Given the description of an element on the screen output the (x, y) to click on. 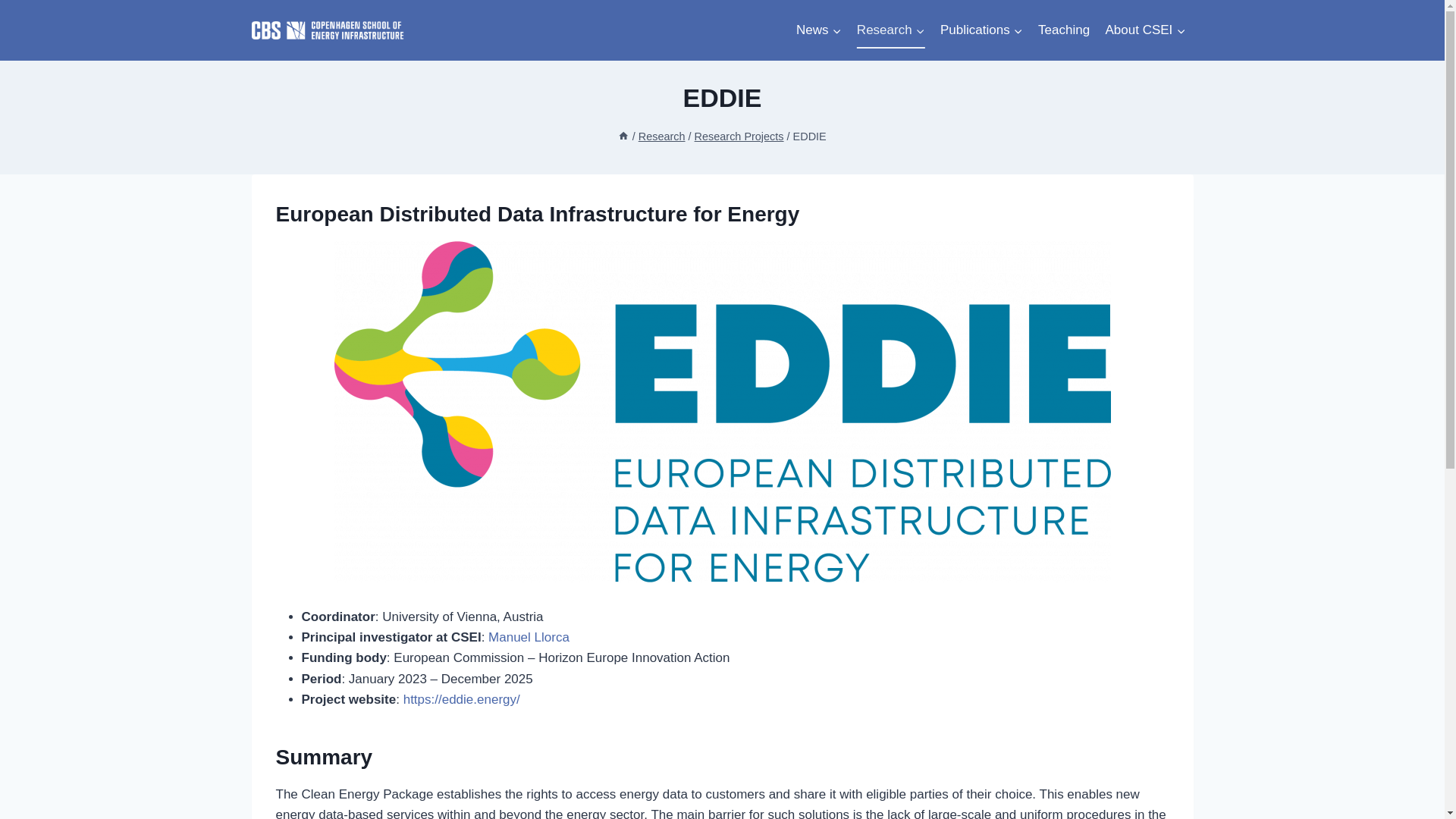
Research Projects (739, 136)
Teaching (1063, 30)
Publications (981, 30)
Research (662, 136)
News (818, 30)
About CSEI (1144, 30)
Research (890, 30)
